Given the description of an element on the screen output the (x, y) to click on. 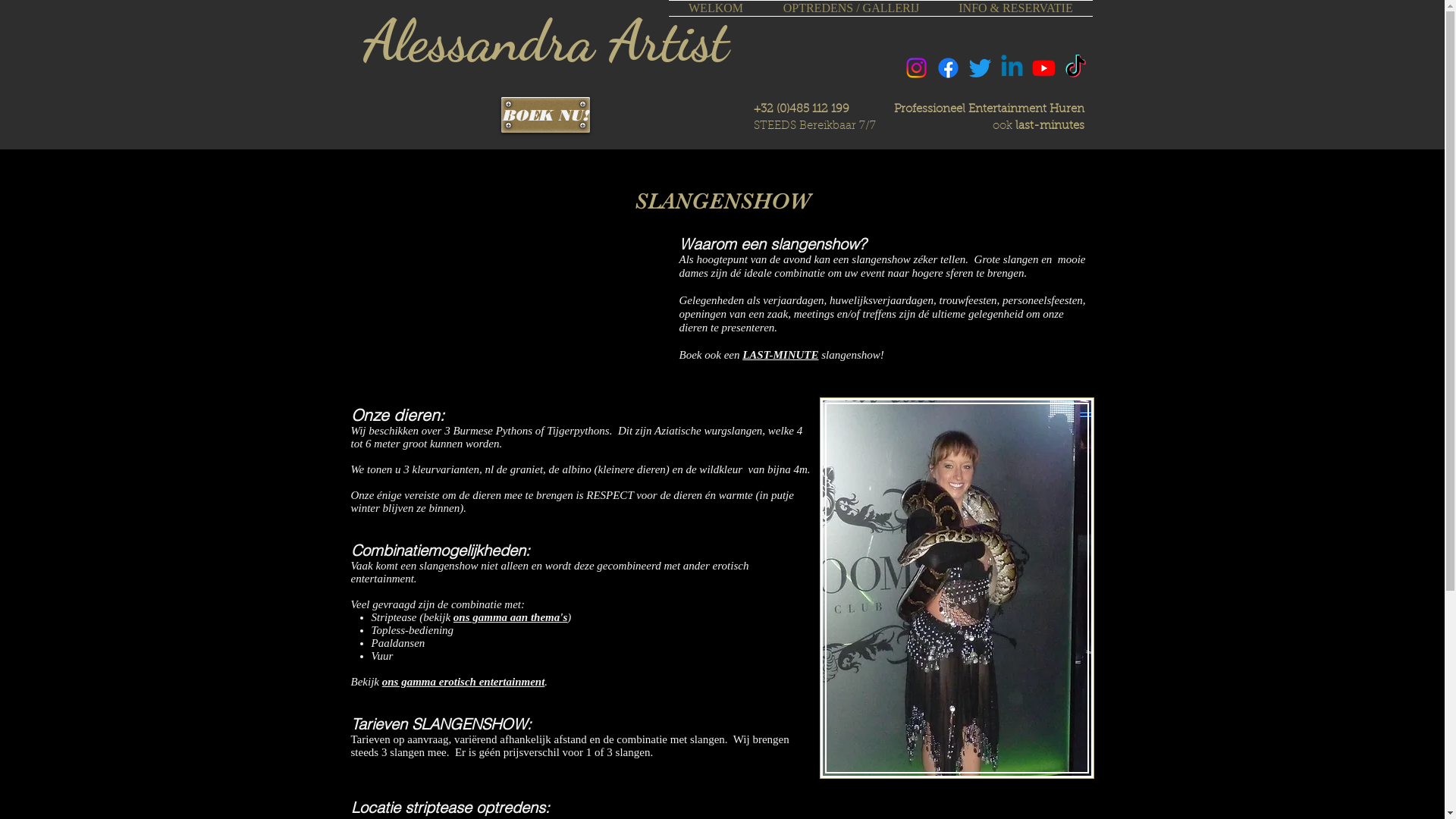
ons gamma erotisch entertainment Element type: text (463, 681)
External YouTube Element type: hover (507, 304)
WELKOM Element type: text (715, 7)
OPTREDENS / GALLERIJ Element type: text (850, 7)
ons gamma aan thema's Element type: text (510, 617)
INFO & RESERVATIE Element type: text (1015, 7)
LAST-MINUTE Element type: text (780, 354)
Workshop Element type: hover (956, 587)
BOEK NU! Element type: text (544, 114)
